Given the description of an element on the screen output the (x, y) to click on. 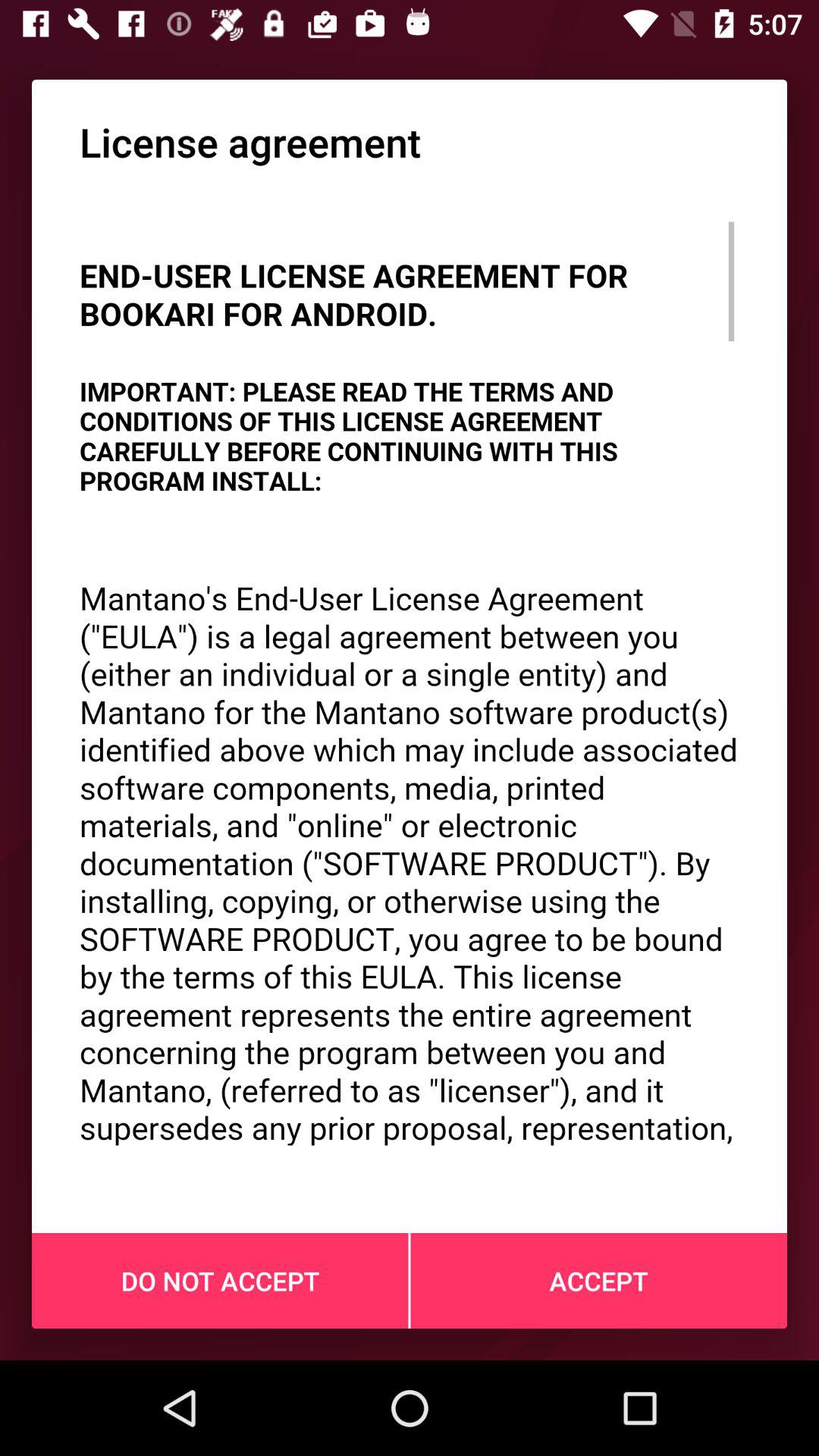
click the item below license agreement (409, 680)
